Given the description of an element on the screen output the (x, y) to click on. 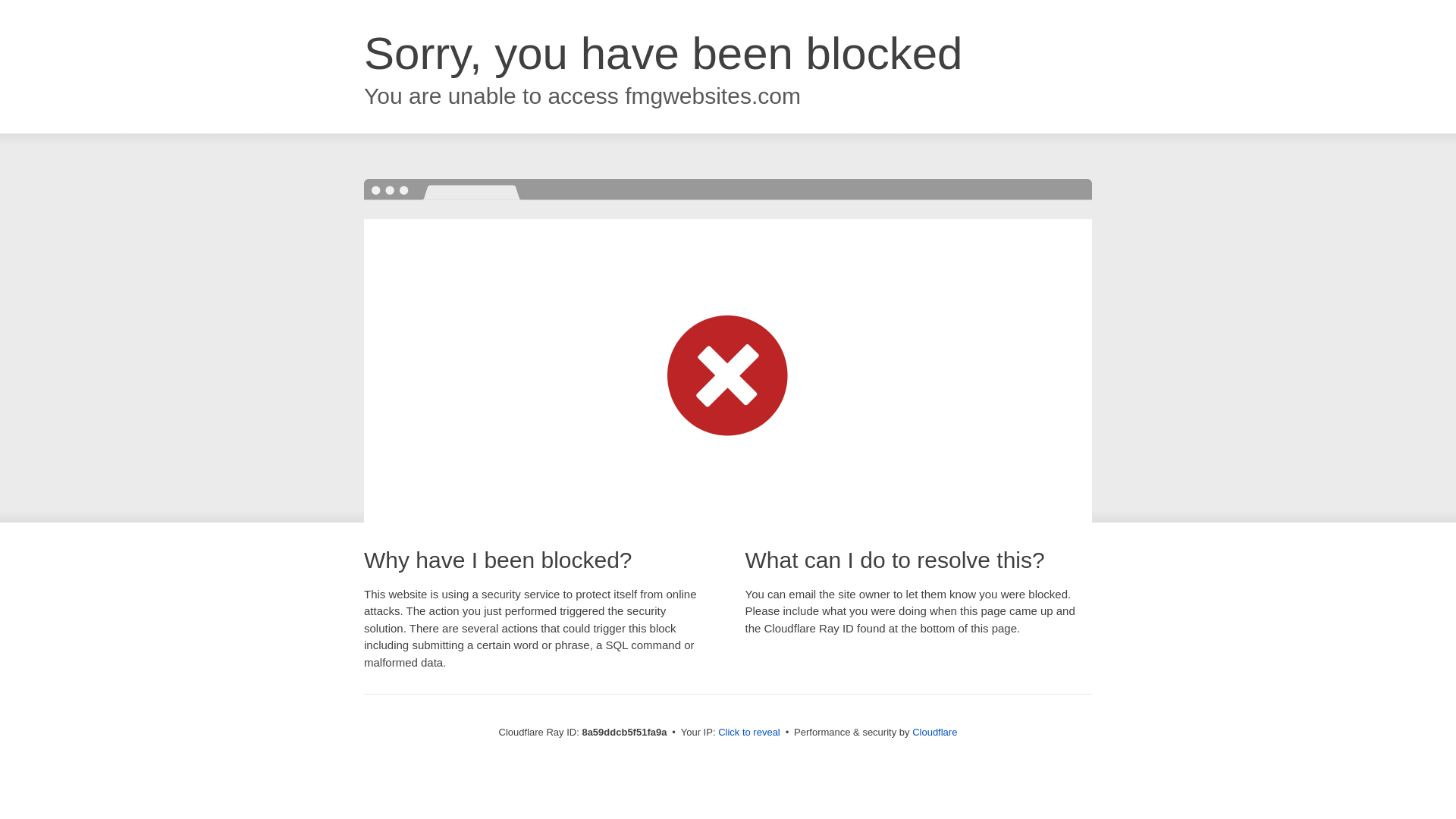
Click to reveal (748, 732)
Cloudflare (934, 731)
